Given the description of an element on the screen output the (x, y) to click on. 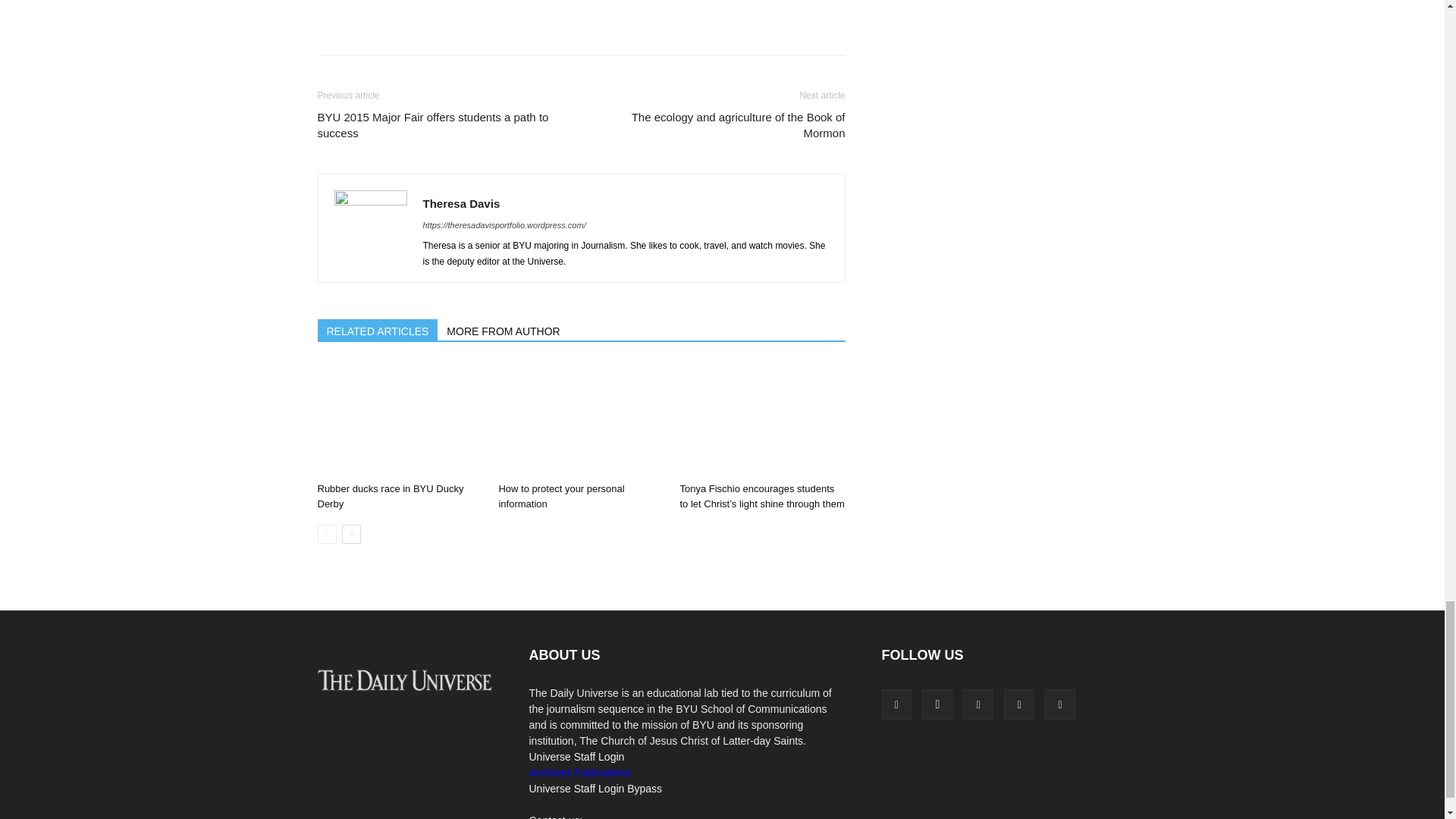
Rubber ducks race in BYU Ducky Derby (399, 418)
